Given the description of an element on the screen output the (x, y) to click on. 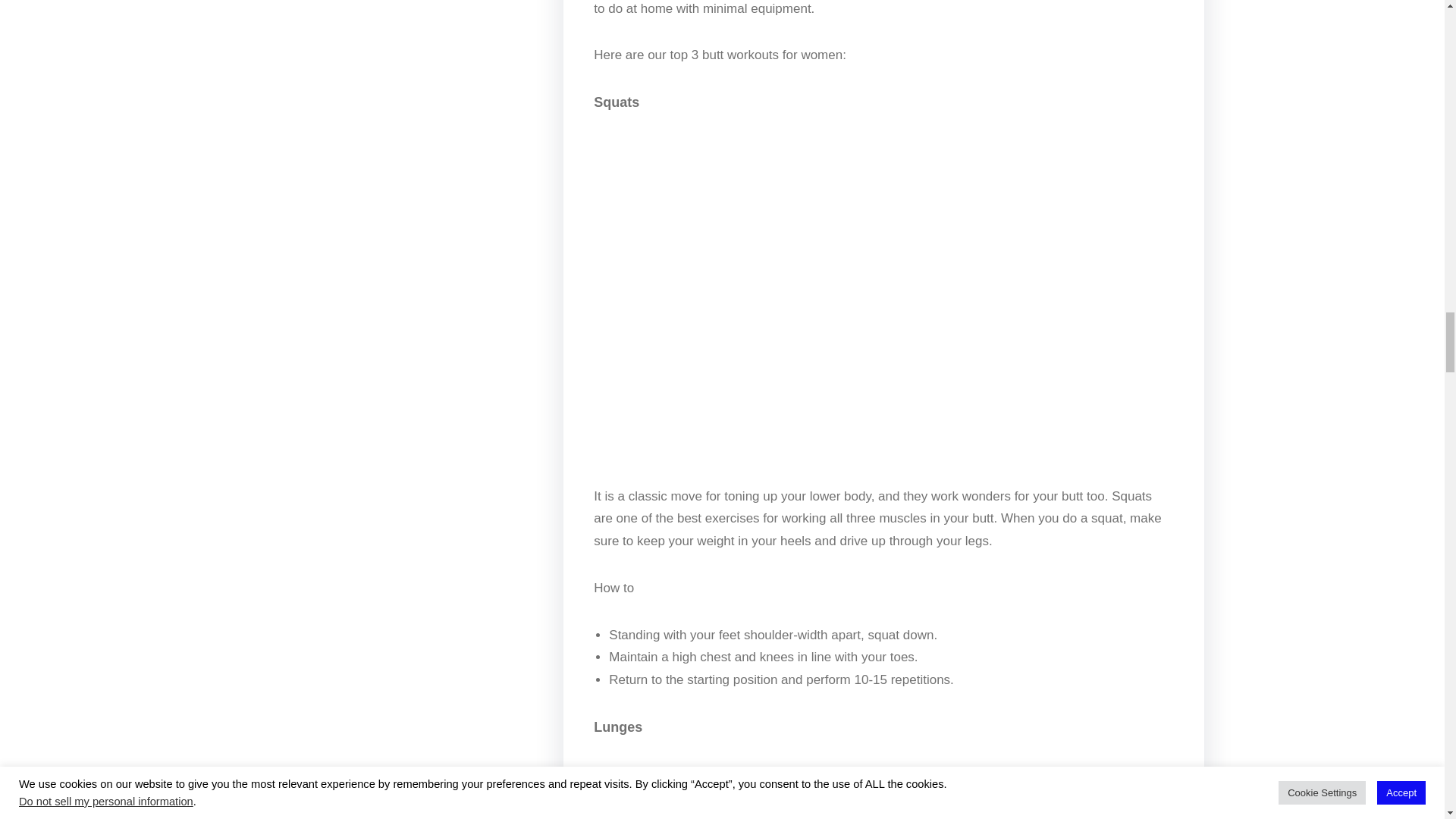
Lunges (882, 791)
